Given the description of an element on the screen output the (x, y) to click on. 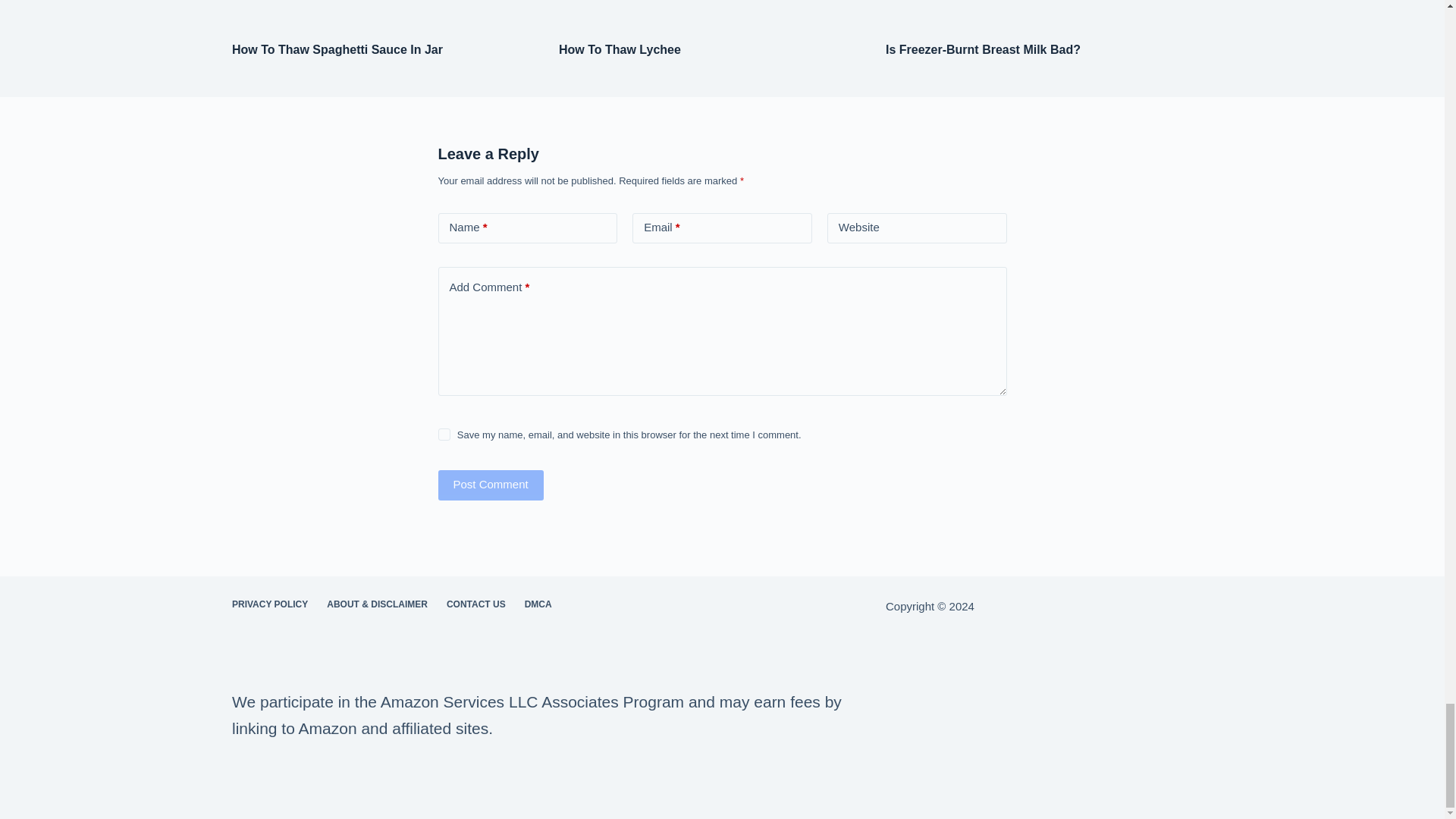
yes (443, 434)
